Given the description of an element on the screen output the (x, y) to click on. 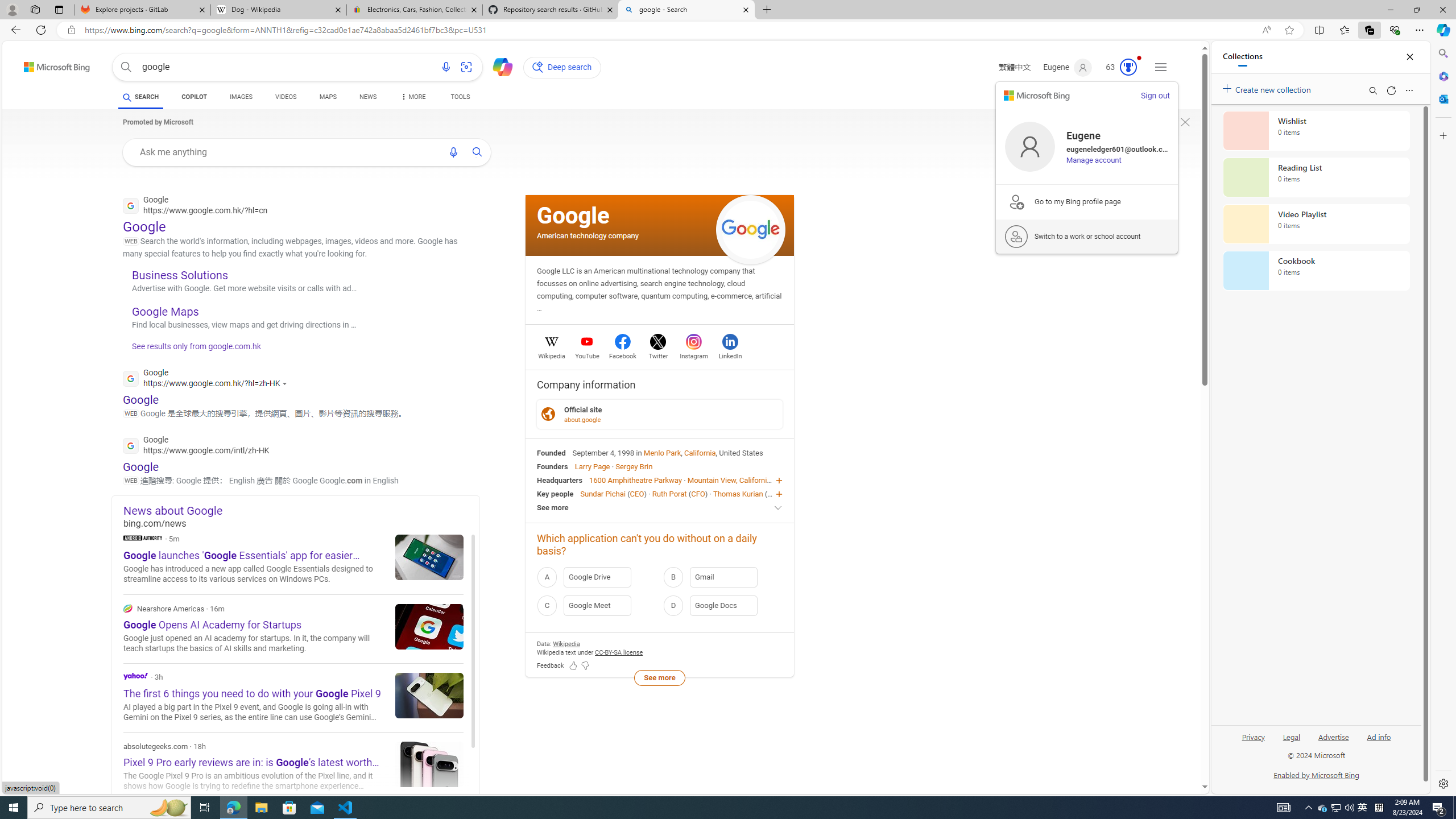
See results only from google.com.hk (191, 348)
AutomationID: mfa_root (1161, 752)
Headquarters (559, 479)
Founded (551, 452)
Chat (497, 65)
Microsoft Rewards 54 (1118, 67)
AutomationID: serp_medal_svg (1128, 67)
C Google Meet (596, 605)
MORE (412, 98)
